Given the description of an element on the screen output the (x, y) to click on. 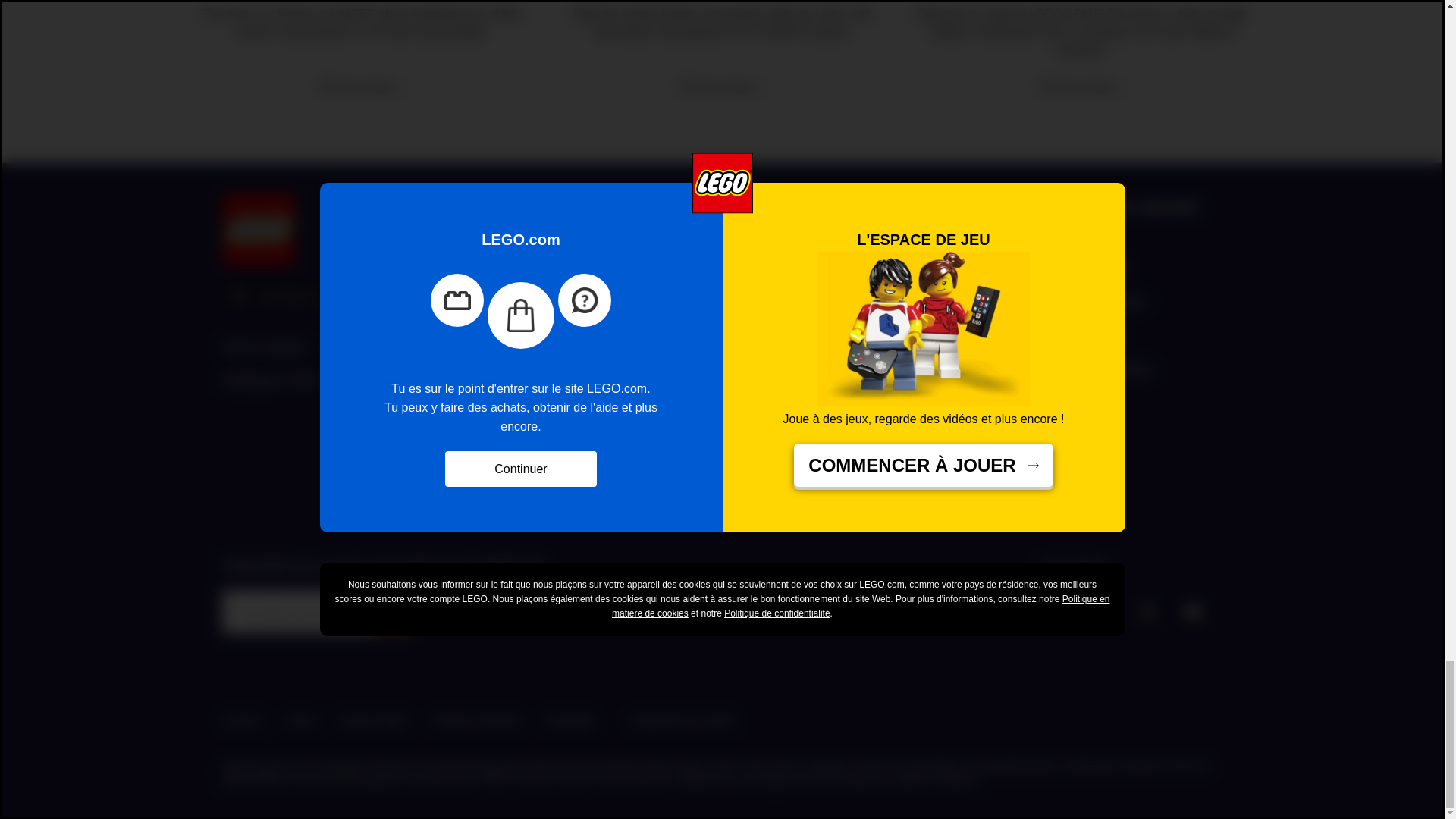
Find out more (722, 51)
Find out more (363, 51)
Find out more (1082, 51)
